Given the description of an element on the screen output the (x, y) to click on. 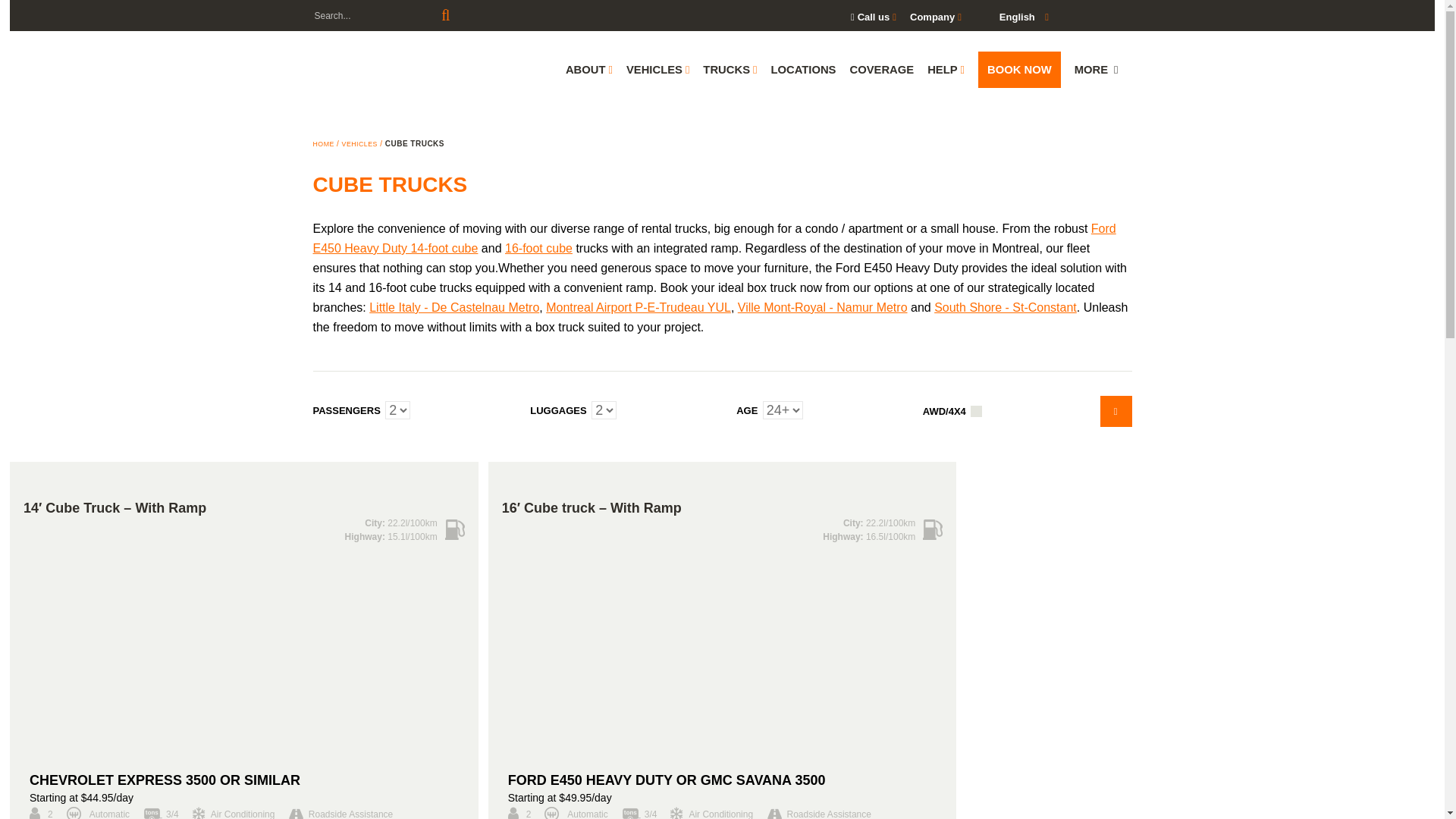
English (1008, 16)
Company (935, 16)
VEHICLES (657, 69)
TRUCKS (730, 69)
1 (975, 410)
ABOUT (589, 69)
Call us (873, 16)
